Given the description of an element on the screen output the (x, y) to click on. 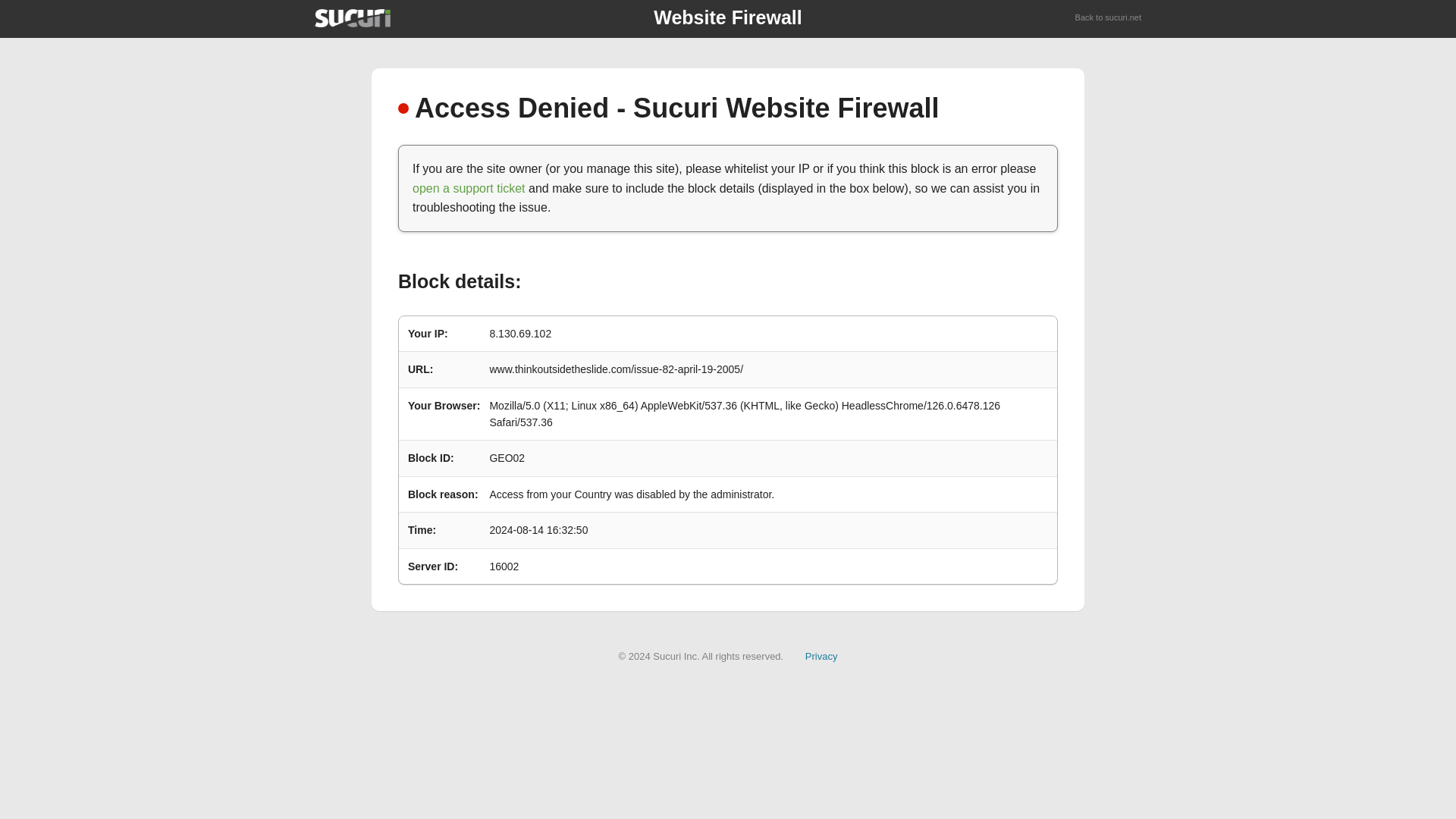
Back to sucuri.net (1108, 18)
open a support ticket (468, 187)
Privacy (821, 655)
